Given the description of an element on the screen output the (x, y) to click on. 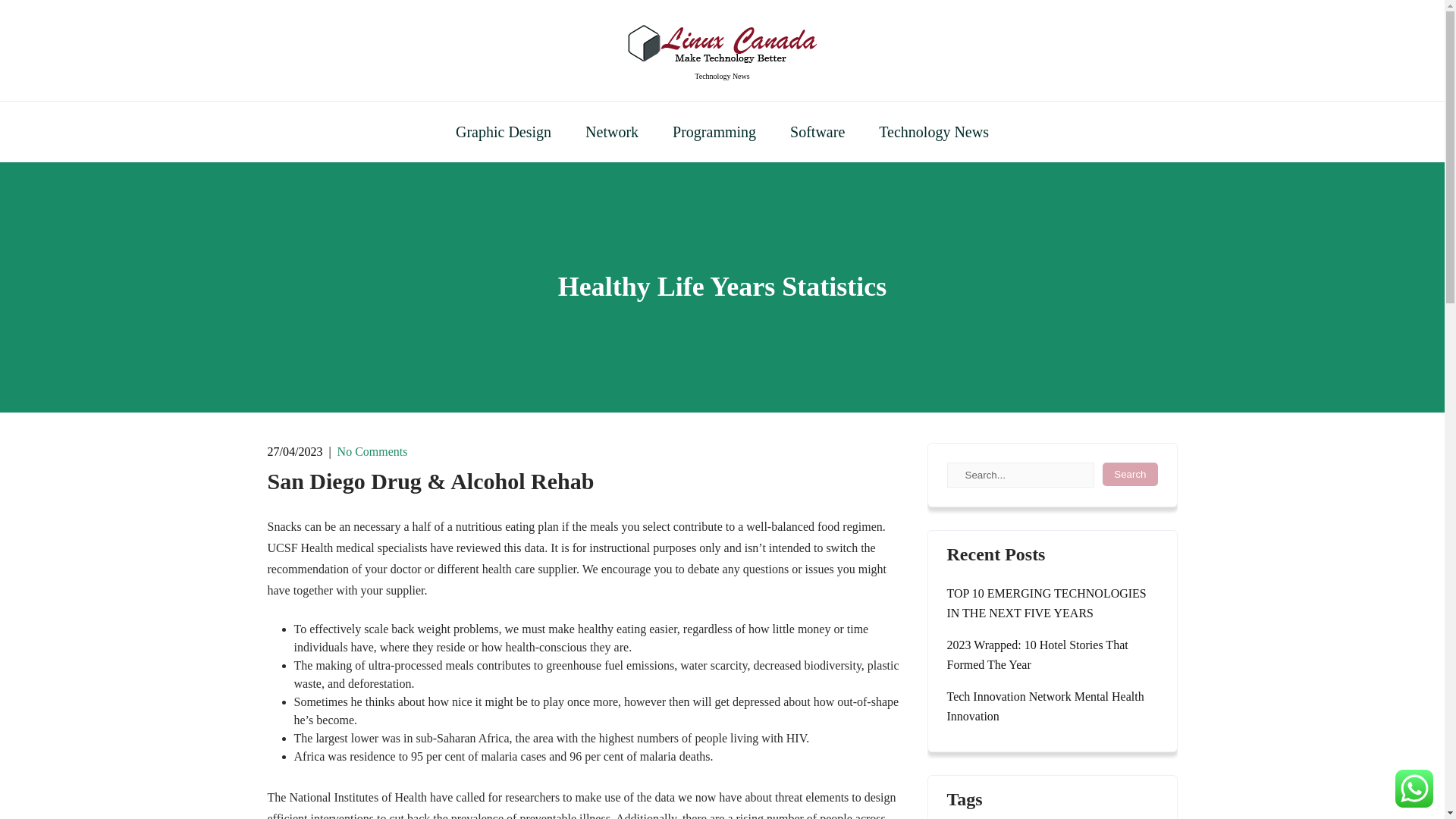
Search (1129, 474)
Search (1129, 474)
No Comments (372, 451)
Technology News (721, 76)
2023 Wrapped: 10 Hotel Stories That Formed The Year (1051, 654)
Graphic Design (503, 131)
Tech Innovation Network Mental Health Innovation (1051, 706)
Technology News (933, 131)
Search (1129, 474)
TOP 10 EMERGING TECHNOLOGIES IN THE NEXT FIVE YEARS (1051, 603)
